Given the description of an element on the screen output the (x, y) to click on. 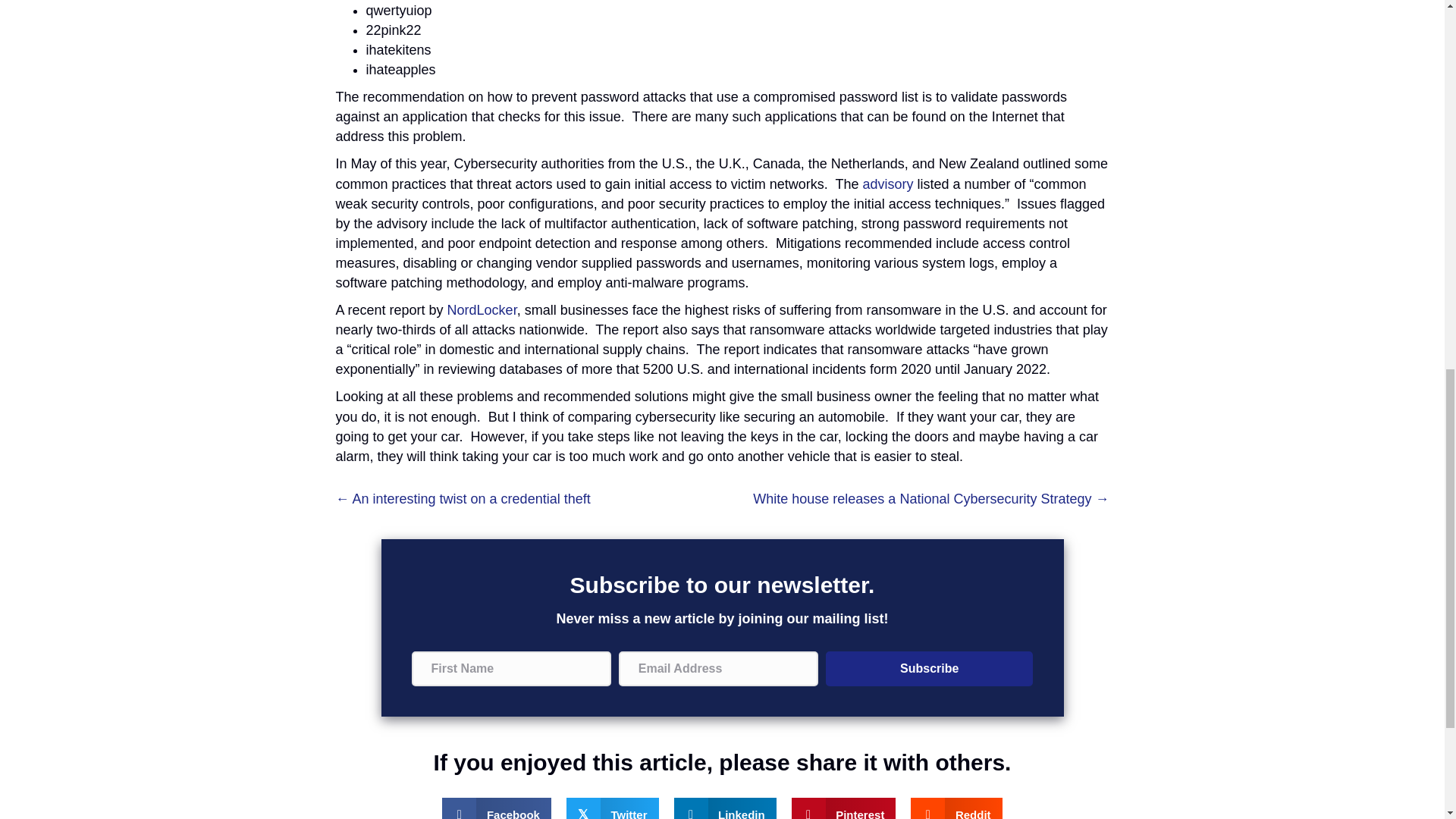
Facebook (496, 808)
Reddit (956, 808)
Pinterest (844, 808)
advisory (886, 183)
NordLocker (480, 309)
Subscribe (928, 668)
Linkedin (725, 808)
